Given the description of an element on the screen output the (x, y) to click on. 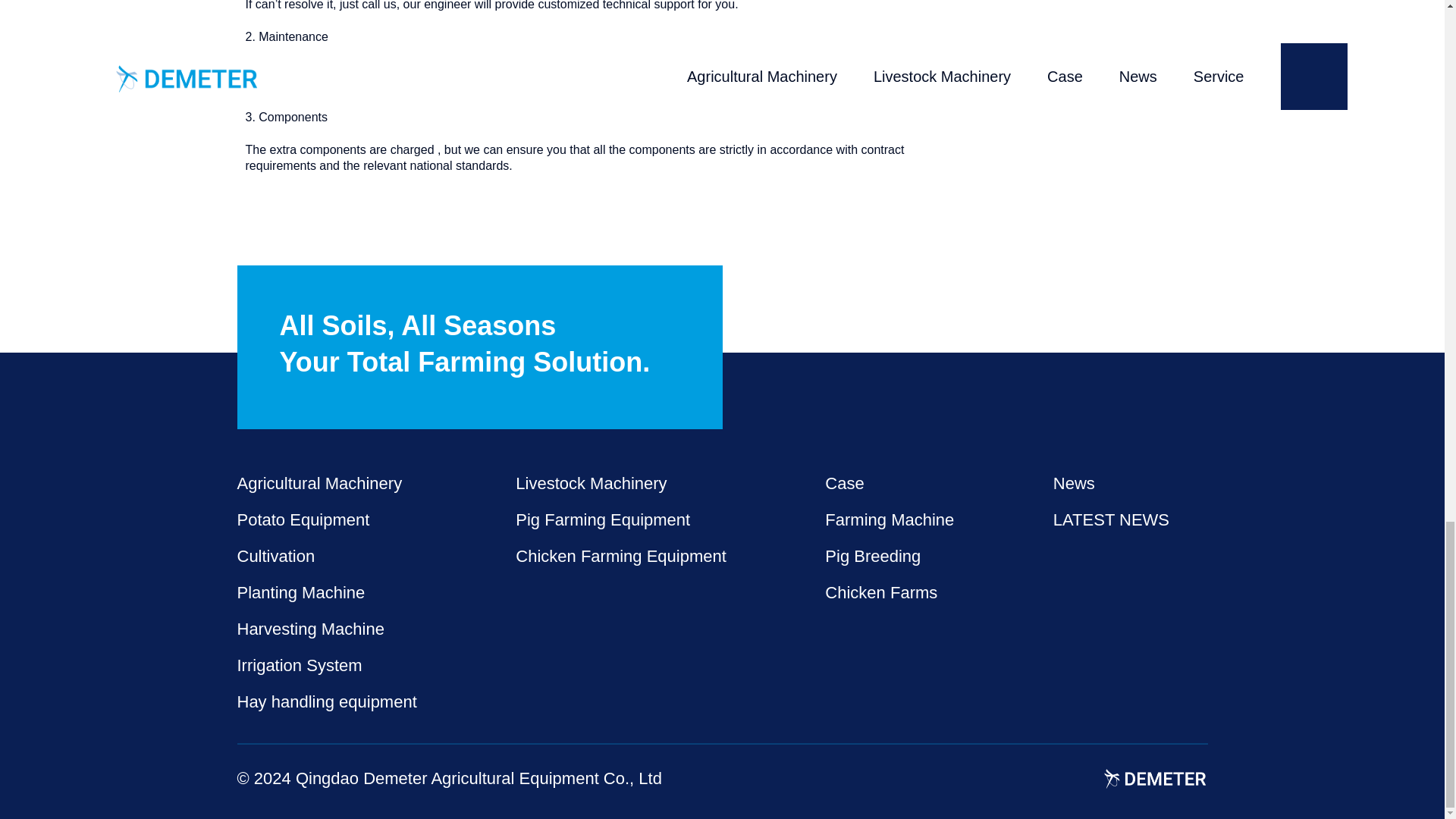
Home (1155, 778)
